Given the description of an element on the screen output the (x, y) to click on. 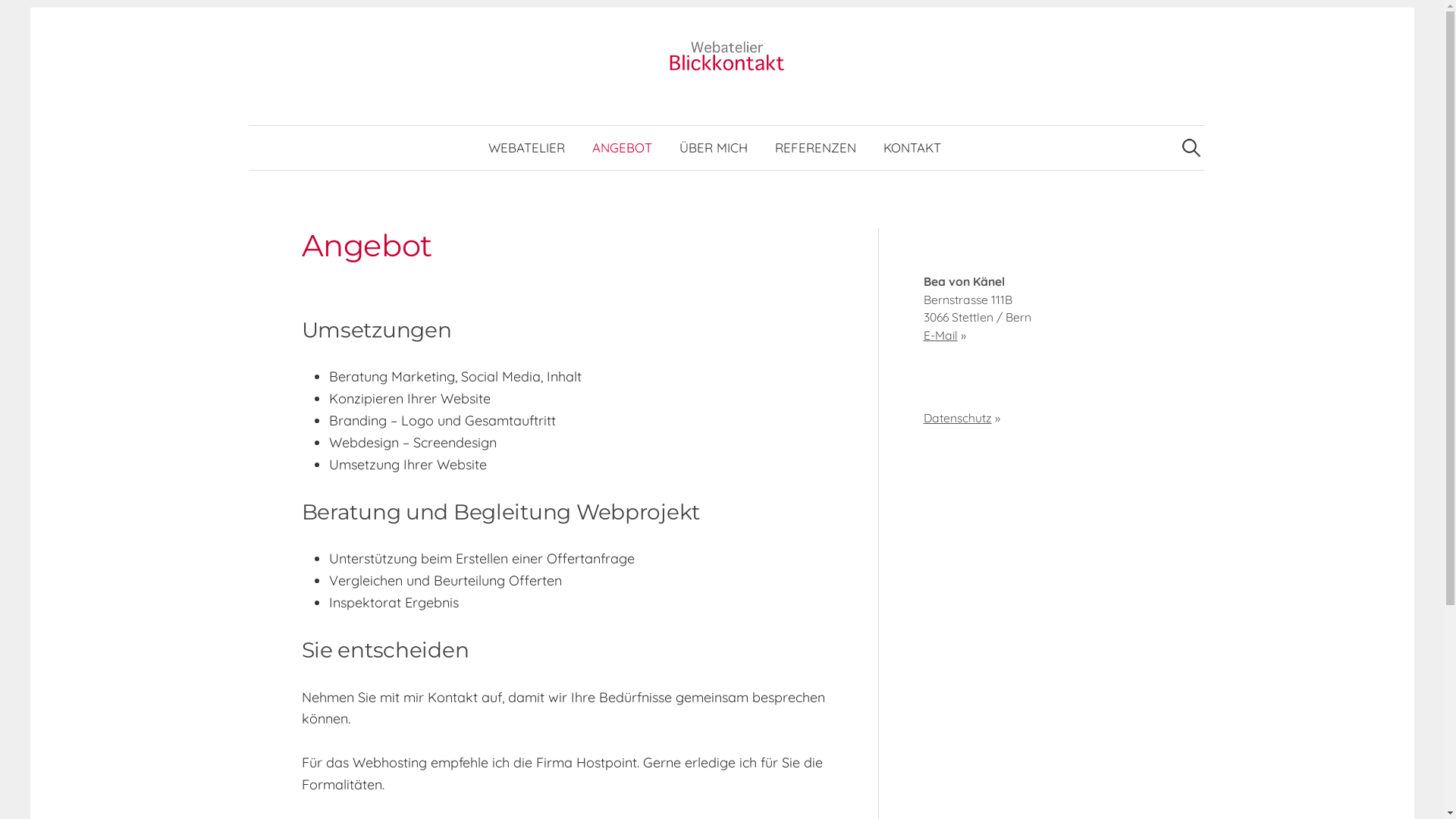
KONTAKT Element type: text (911, 147)
ANGEBOT Element type: text (621, 147)
Suche Element type: text (18, 18)
E-Mail Element type: text (940, 334)
WEBATELIER Element type: text (526, 147)
Springe zum Inhalt Element type: text (52, 6)
REFERENZEN Element type: text (815, 147)
Datenschutz Element type: text (957, 417)
